Given the description of an element on the screen output the (x, y) to click on. 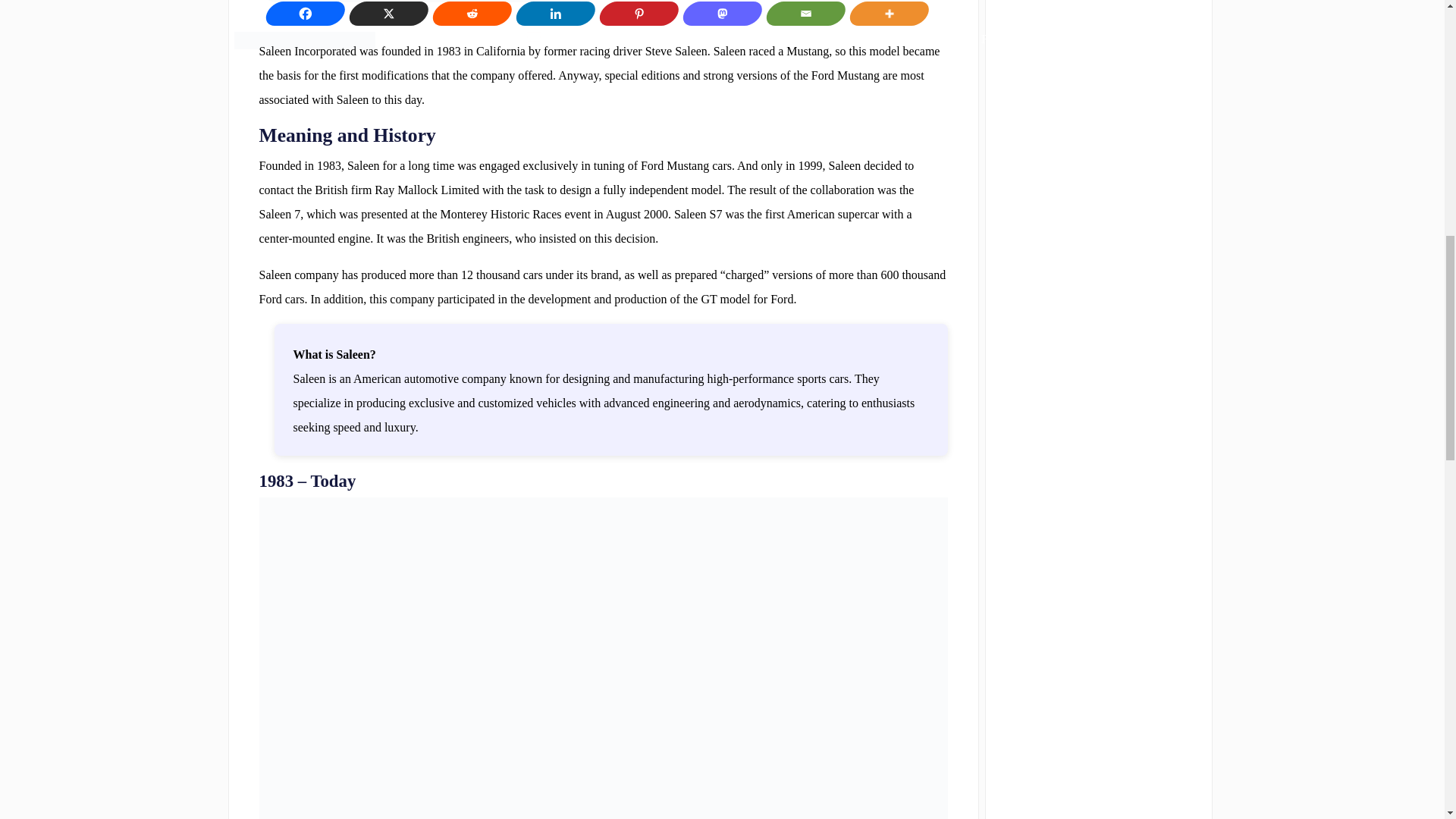
Pinterest (633, 14)
Linkedin (550, 14)
Facebook (300, 14)
Mastodon (718, 14)
Reddit (467, 14)
More (884, 14)
X (384, 14)
Email (801, 14)
